Given the description of an element on the screen output the (x, y) to click on. 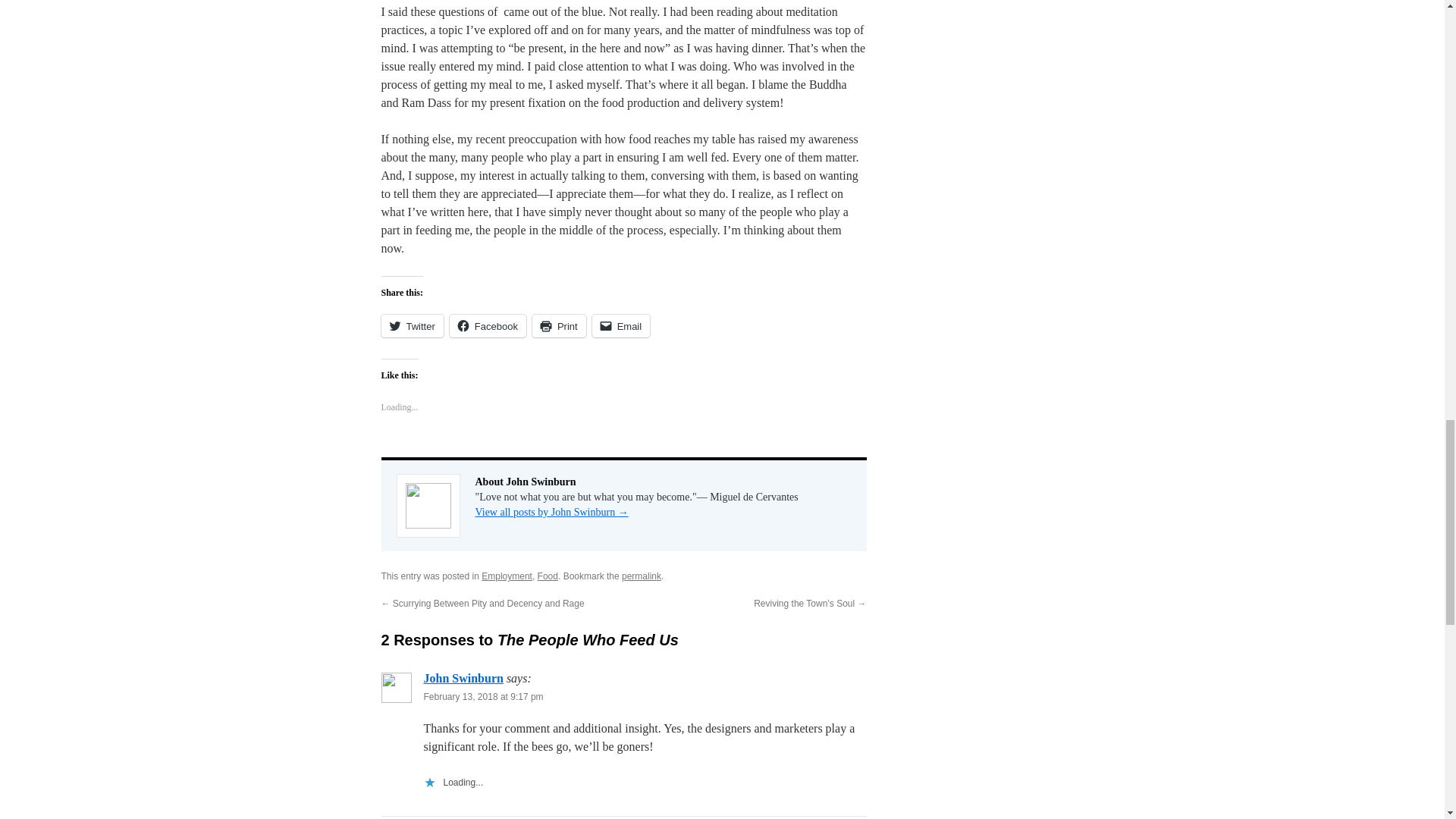
Permalink to The People Who Feed Us (641, 575)
Click to print (559, 325)
Click to share on Twitter (411, 325)
Food (547, 575)
February 13, 2018 at 9:17 pm (483, 696)
Print (559, 325)
Click to email a link to a friend (621, 325)
permalink (641, 575)
Employment (506, 575)
Email (621, 325)
